Given the description of an element on the screen output the (x, y) to click on. 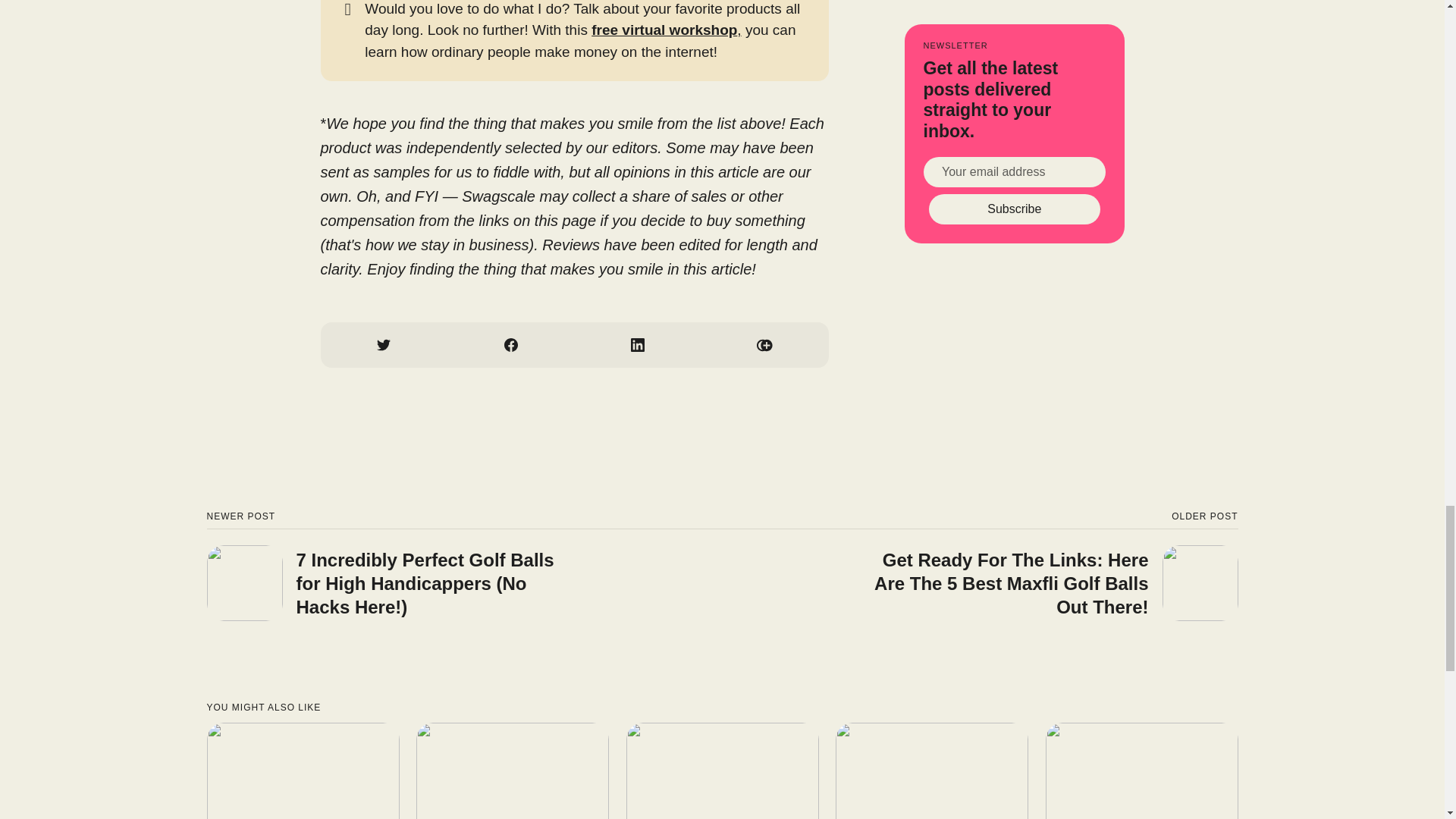
free virtual workshop, (666, 29)
